Given the description of an element on the screen output the (x, y) to click on. 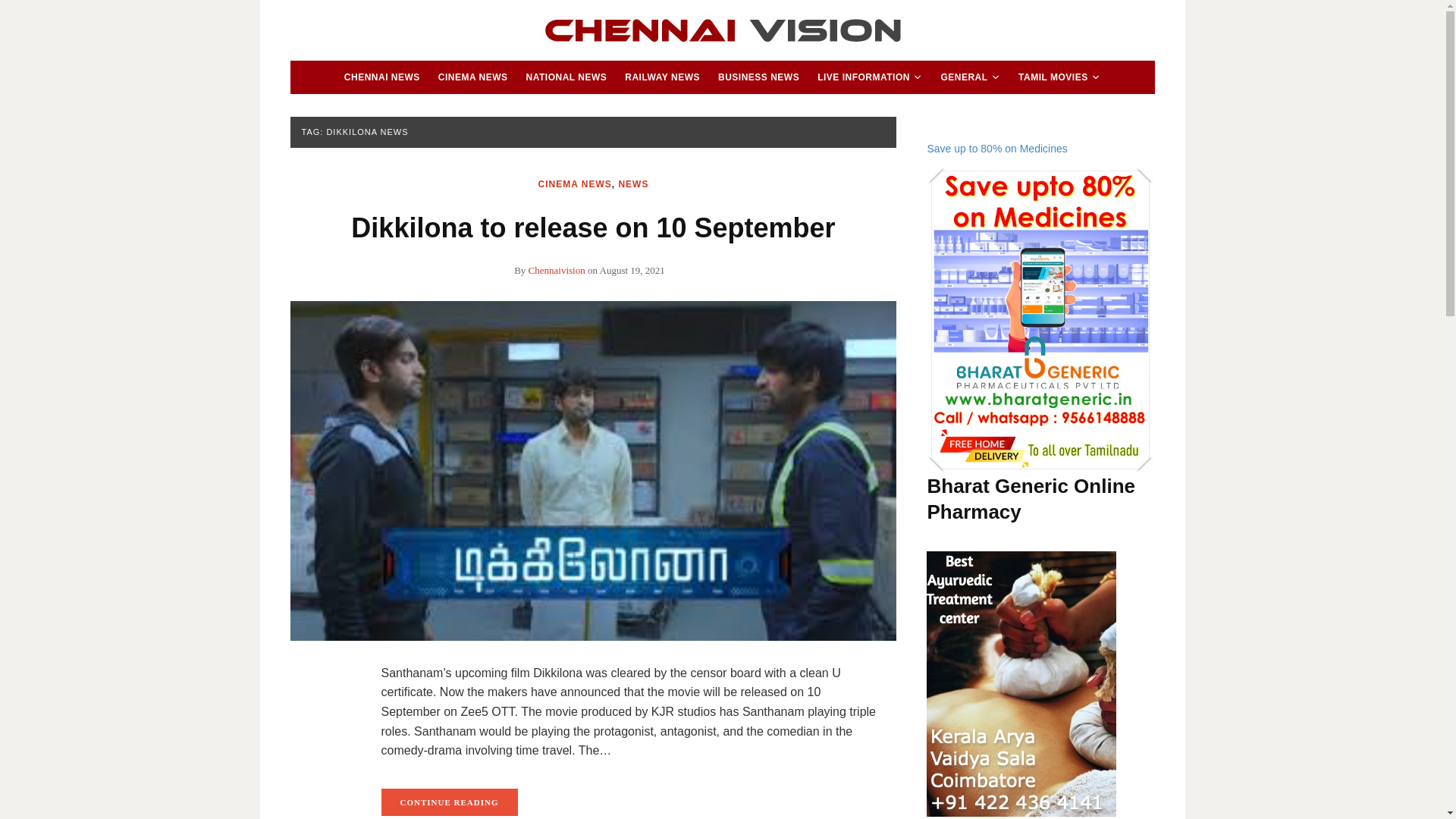
Generic Medicals (1040, 319)
Kerala Arya Vaidya Sala, Coimbatore (1021, 683)
Dikkilona to release on 10 September (592, 470)
Posts by Chennaivision (556, 270)
